Given the description of an element on the screen output the (x, y) to click on. 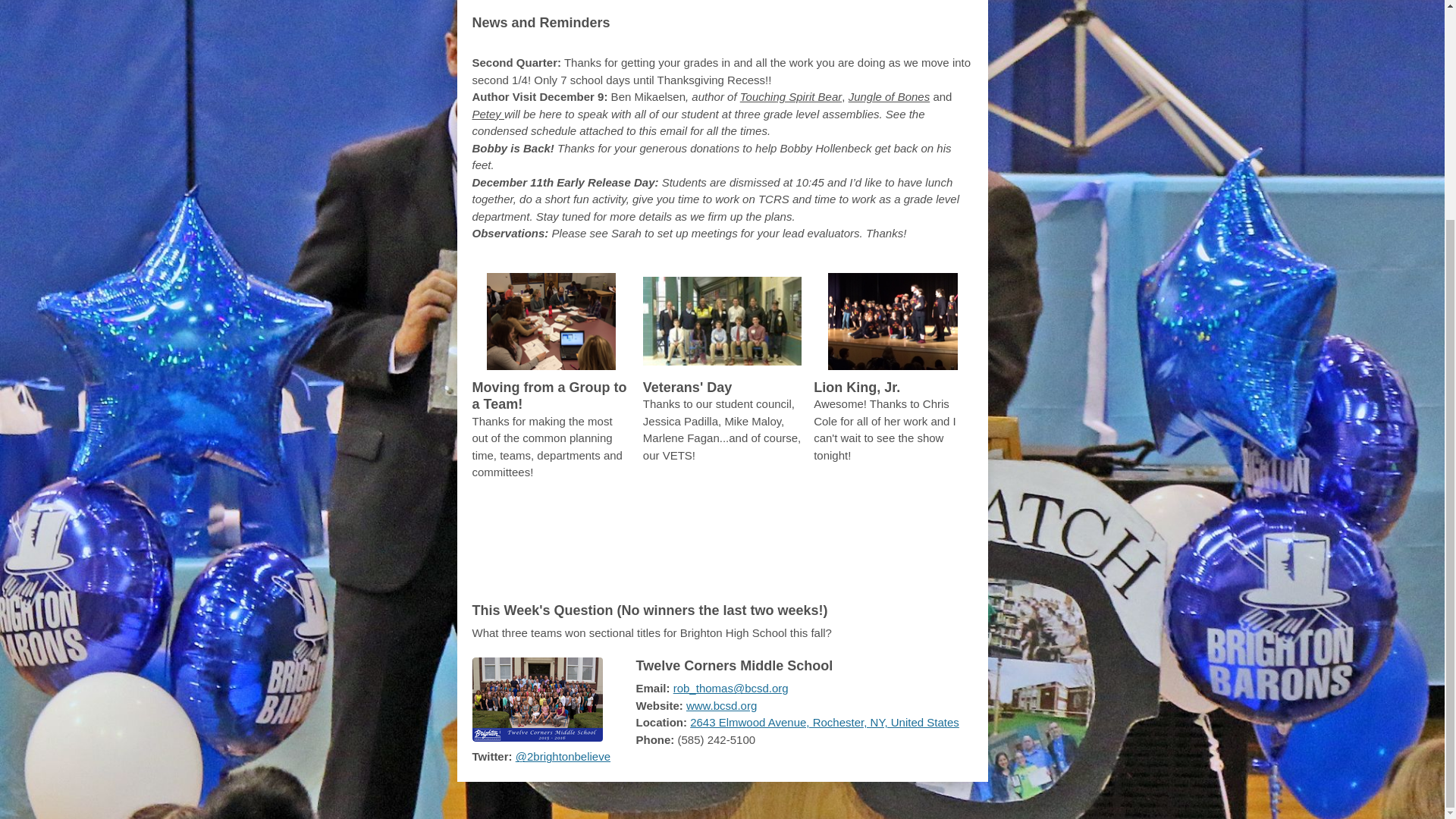
first (664, 523)
Aubrey (524, 547)
1926. (722, 571)
in (947, 547)
Trivia (500, 523)
K-12 (912, 547)
Donley (625, 547)
this (821, 523)
was (867, 547)
The (628, 523)
